Given the description of an element on the screen output the (x, y) to click on. 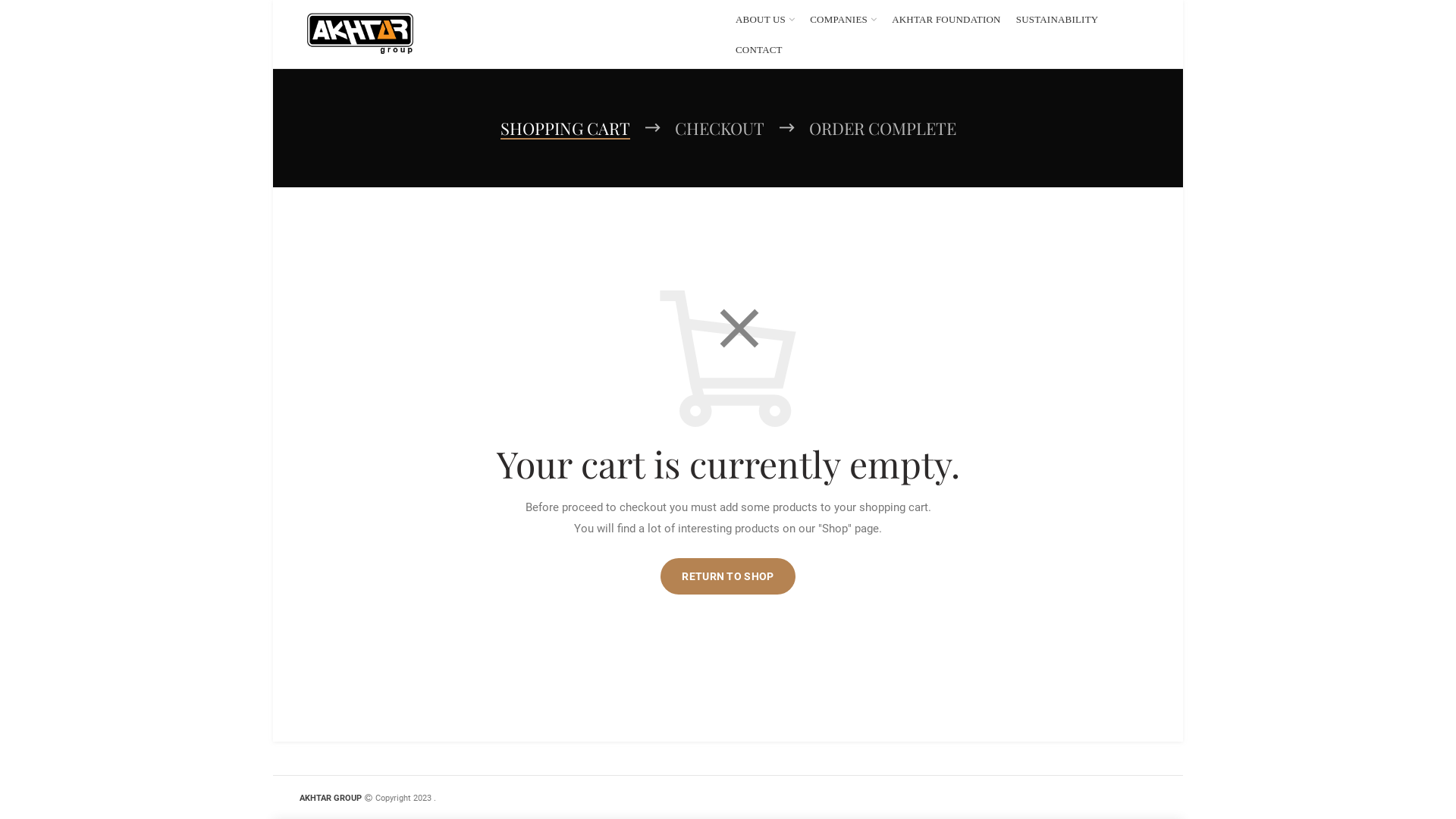
SHOPPING CART Element type: text (565, 128)
AKHTAR FOUNDATION Element type: text (946, 18)
COMPANIES Element type: text (843, 18)
AKHTAR GROUP Element type: text (330, 798)
CHECKOUT Element type: text (719, 128)
SUSTAINABILITY Element type: text (1057, 18)
RETURN TO SHOP Element type: text (727, 576)
CONTACT Element type: text (759, 49)
ABOUT US Element type: text (765, 18)
